Given the description of an element on the screen output the (x, y) to click on. 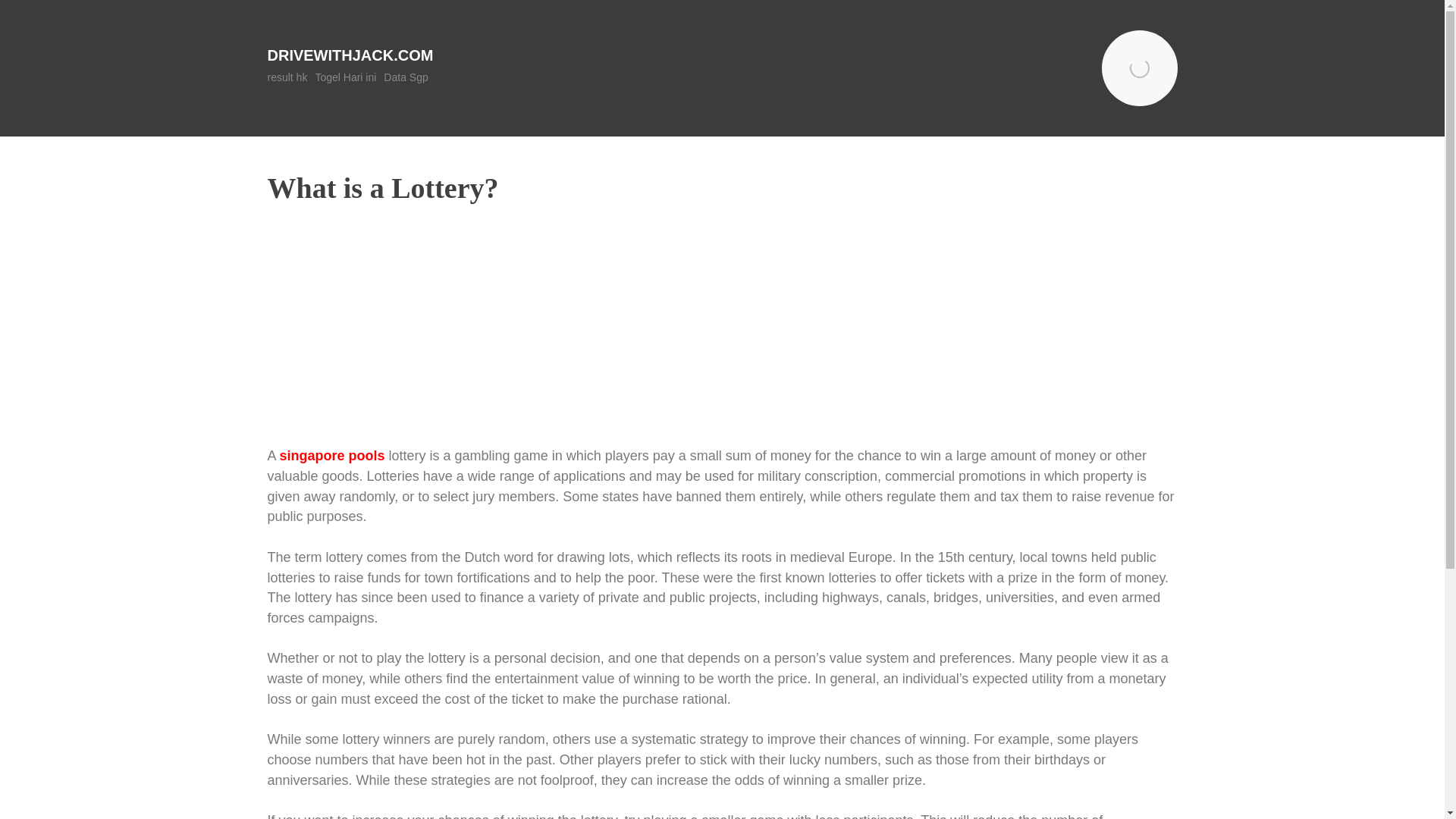
drivewithjack.com (349, 54)
Togel Hari ini (344, 77)
result hk (286, 77)
singapore pools (332, 455)
Data Sgp (406, 77)
DRIVEWITHJACK.COM (349, 54)
